Given the description of an element on the screen output the (x, y) to click on. 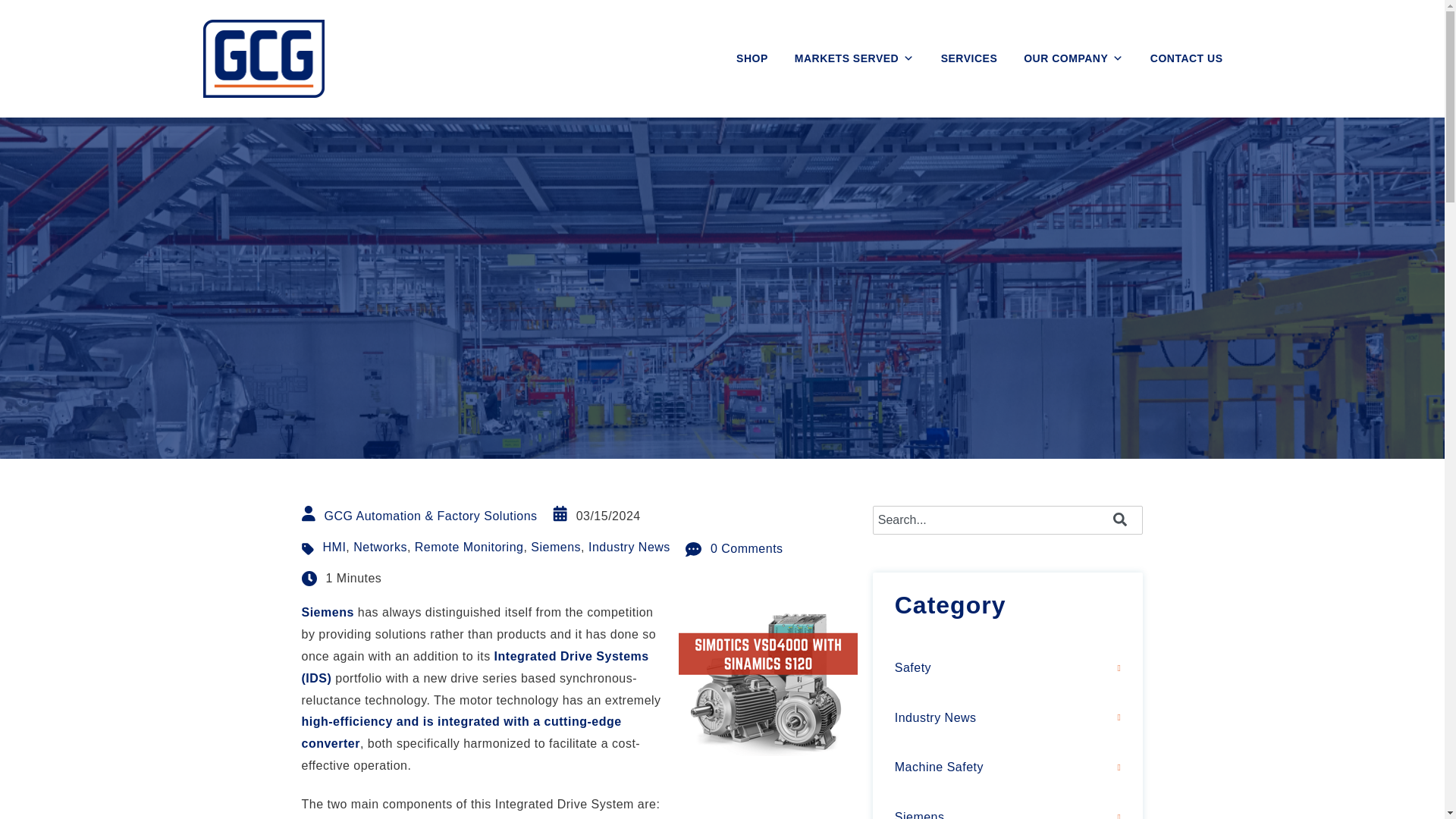
Siemens (555, 546)
gcg-logo-color-digital (263, 58)
Industry News (628, 546)
Networks (380, 546)
OUR COMPANY (1073, 58)
HMI (334, 546)
0 Comments (734, 548)
Remote Monitoring (469, 546)
CONTACT US (1186, 58)
SERVICES (969, 58)
SHOP (752, 58)
MARKETS SERVED (854, 58)
Industry News (1007, 718)
Safety (1007, 668)
